Given the description of an element on the screen output the (x, y) to click on. 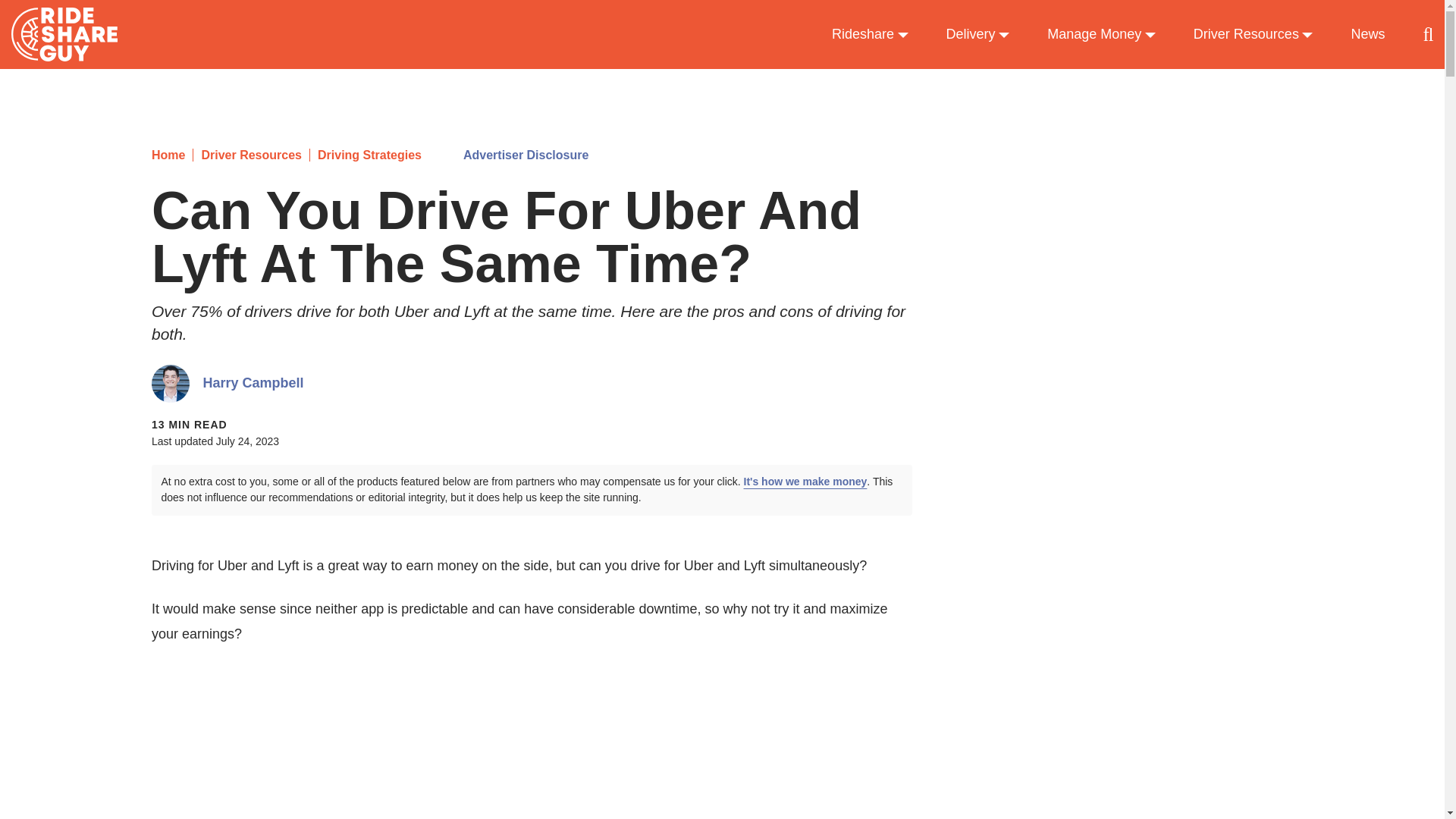
Home (167, 154)
It's how we make money (805, 481)
News (1367, 35)
Manage Money (1101, 35)
Rideshare (869, 35)
Driver Resources (246, 154)
Delivery (978, 35)
Driving Strategies (365, 154)
Driver Resources (1253, 35)
Advertiser Disclosure (525, 154)
